Given the description of an element on the screen output the (x, y) to click on. 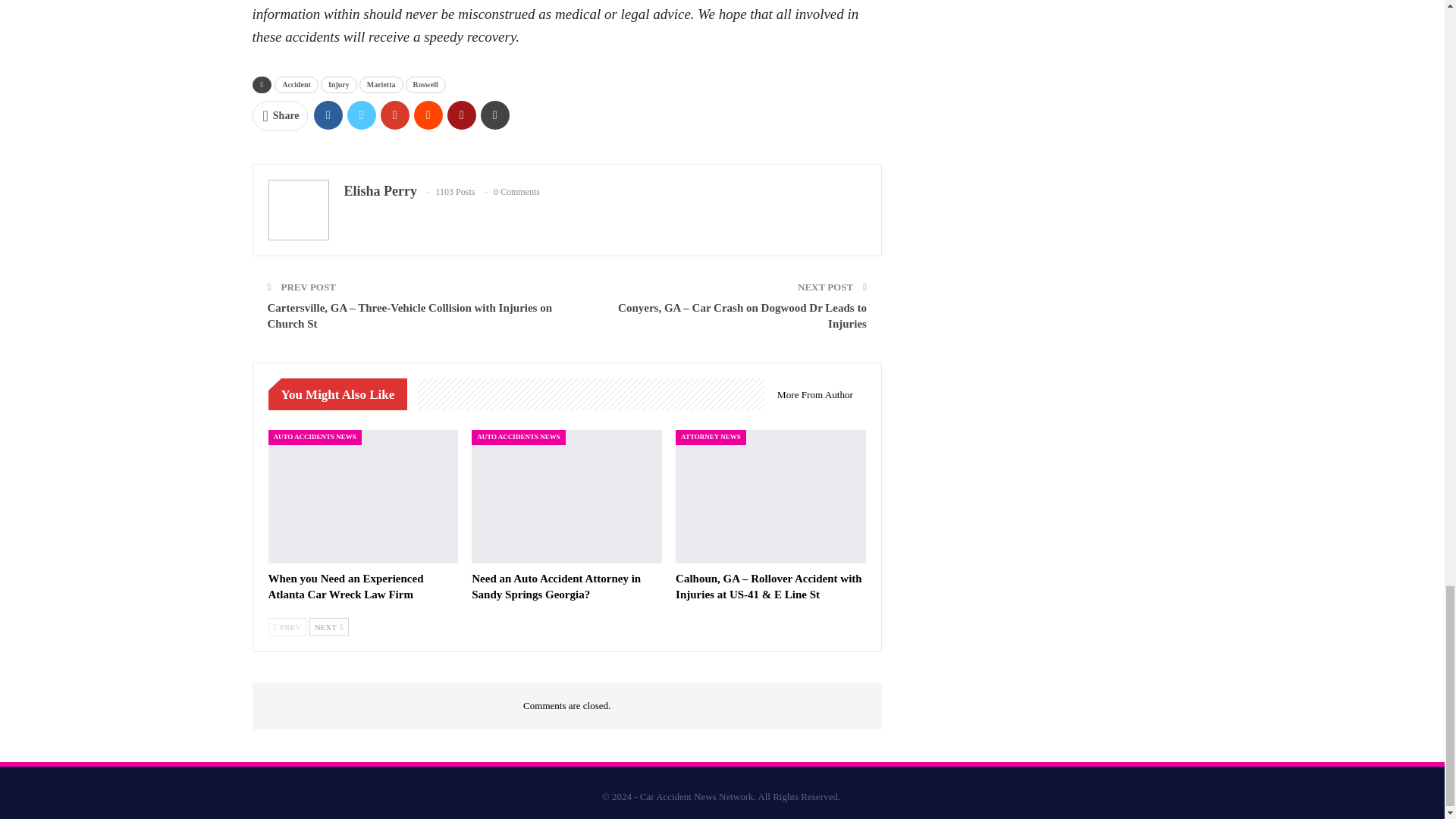
When you Need an Experienced Atlanta Car Wreck Law Firm (362, 496)
Need an Auto Accident Attorney in Sandy Springs Georgia? (555, 586)
Need an Auto Accident Attorney in Sandy Springs Georgia? (566, 496)
When you Need an Experienced Atlanta Car Wreck Law Firm (345, 586)
